Given the description of an element on the screen output the (x, y) to click on. 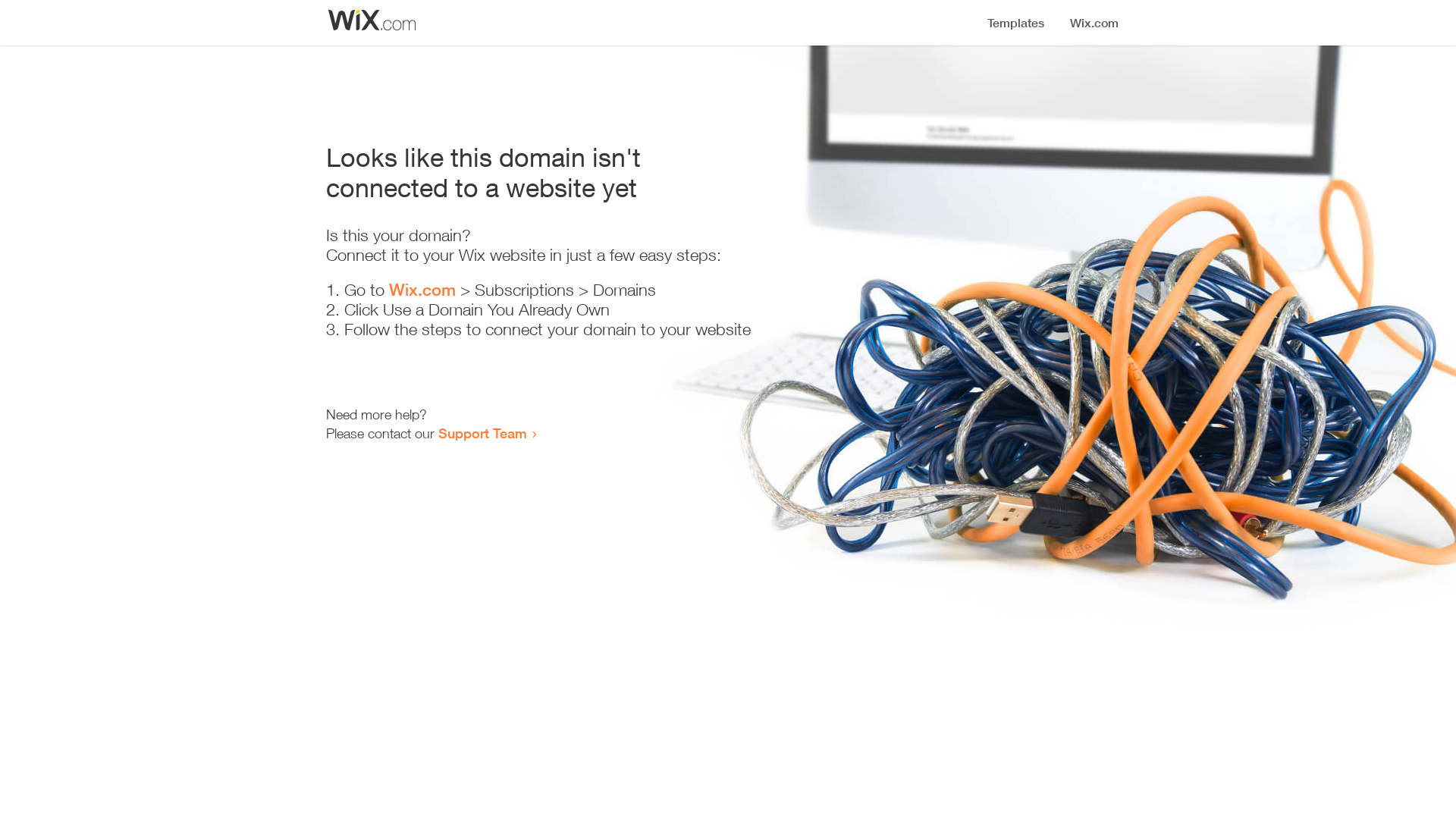
Support Team Element type: text (482, 432)
Wix.com Element type: text (422, 289)
